Given the description of an element on the screen output the (x, y) to click on. 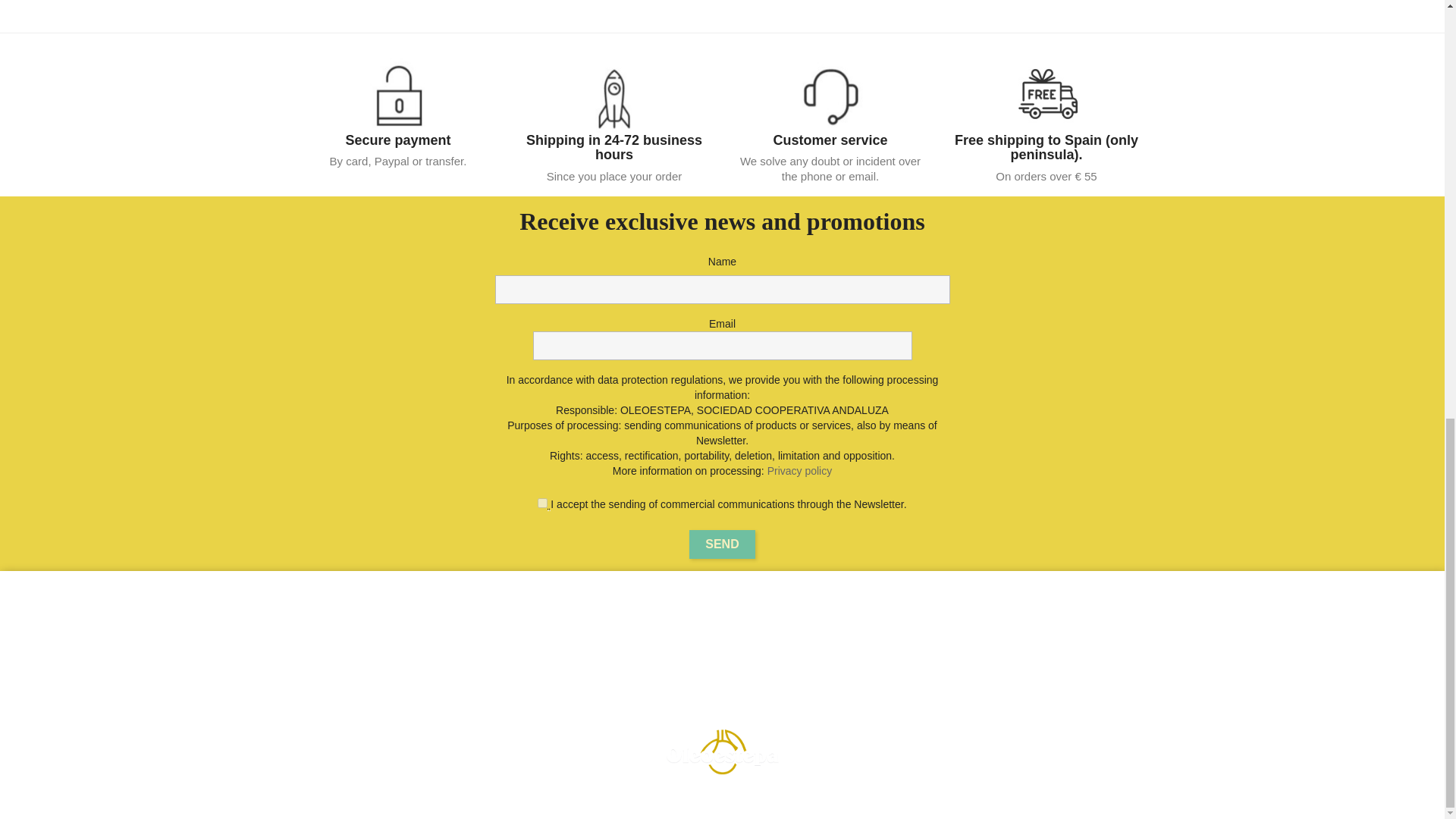
1 (542, 502)
Our special products (543, 613)
Send (721, 543)
New products (549, 633)
Best sales (541, 652)
